Given the description of an element on the screen output the (x, y) to click on. 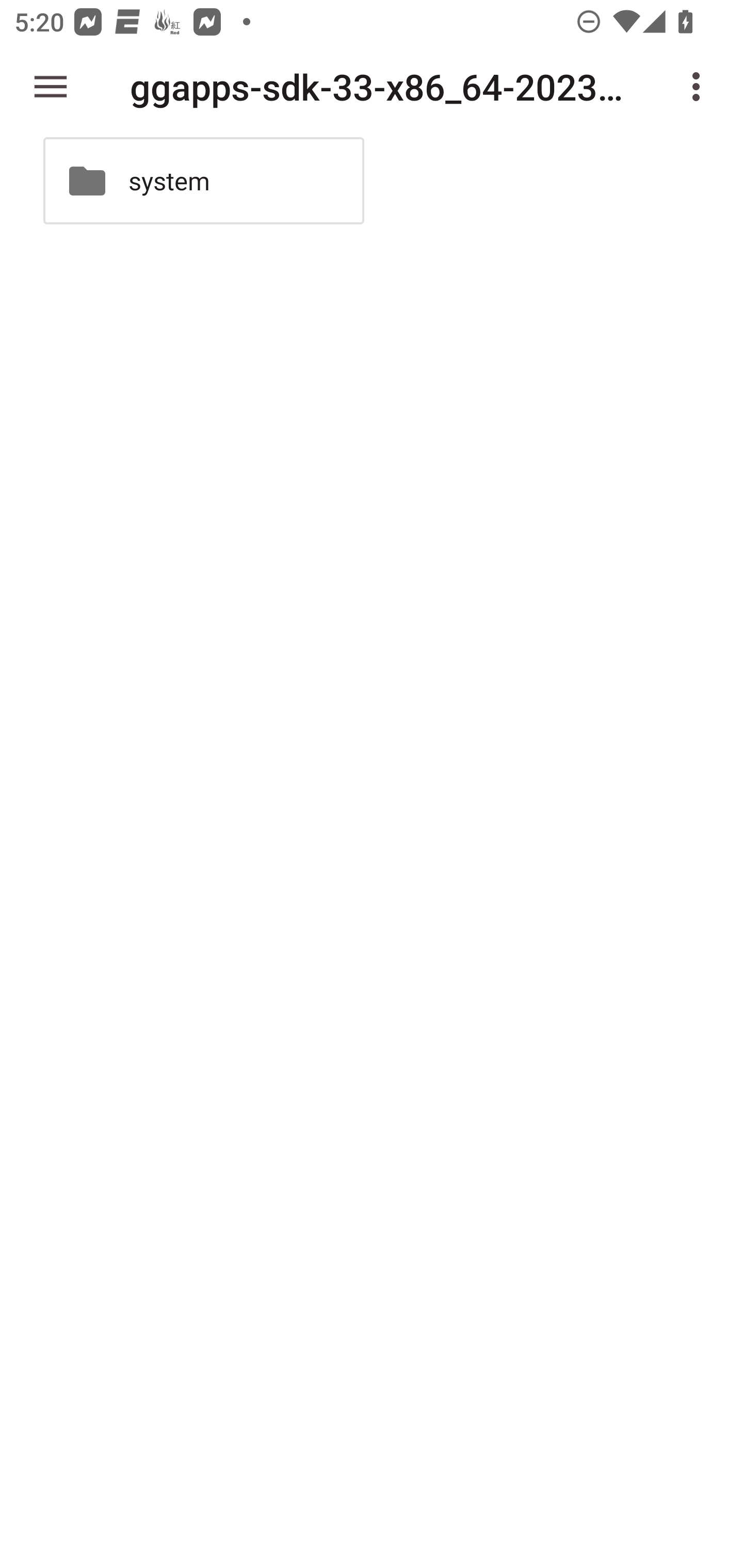
Show roots (50, 86)
More options (699, 86)
system (203, 180)
